Given the description of an element on the screen output the (x, y) to click on. 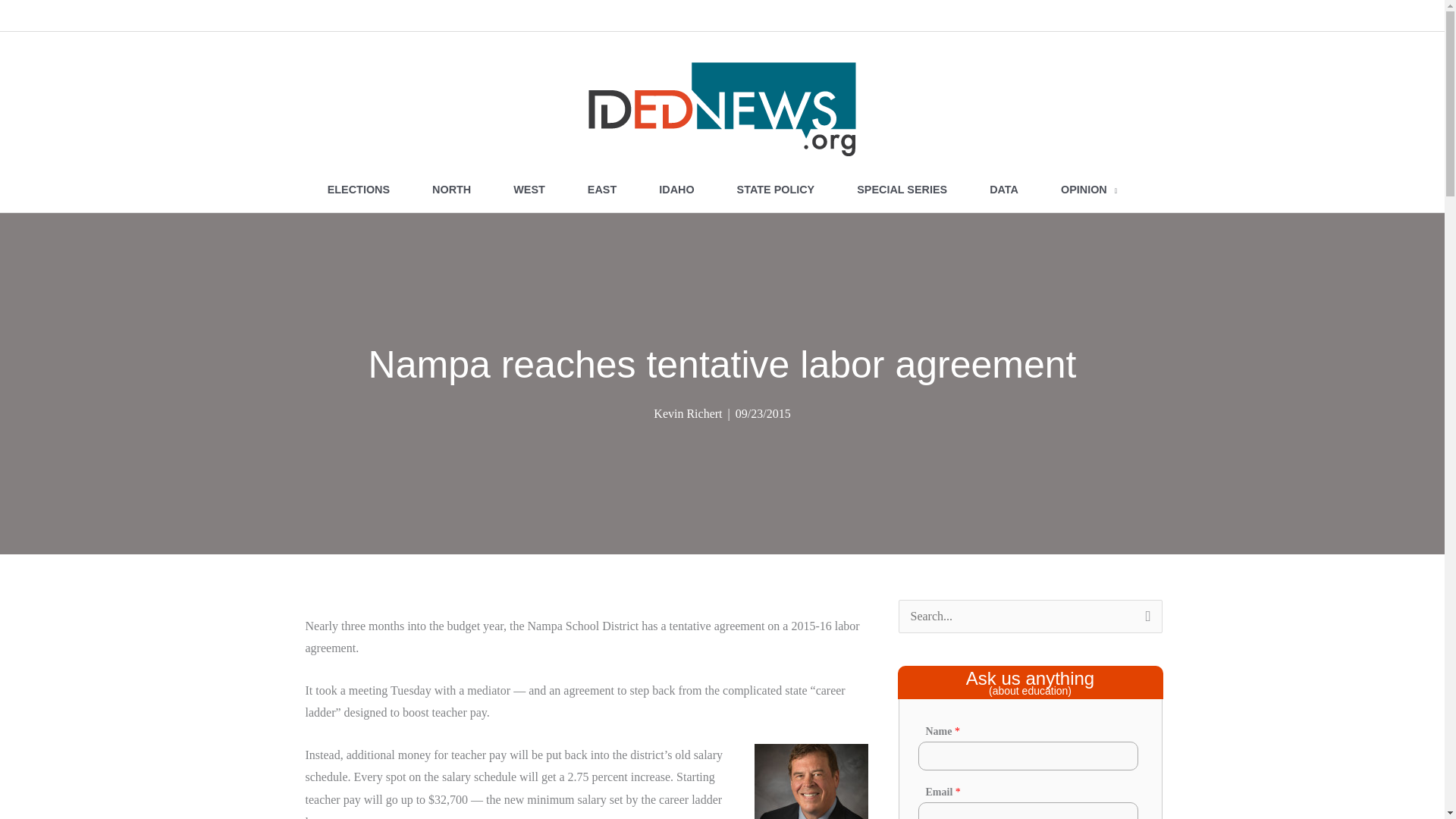
SPECIAL SERIES (901, 190)
Kevin Richert (687, 413)
IDAHO (675, 190)
STATE POLICY (775, 190)
NORTH (451, 190)
EAST (601, 190)
OPINION (1088, 190)
WEST (529, 190)
DATA (1003, 190)
ELECTIONS (357, 190)
